Given the description of an element on the screen output the (x, y) to click on. 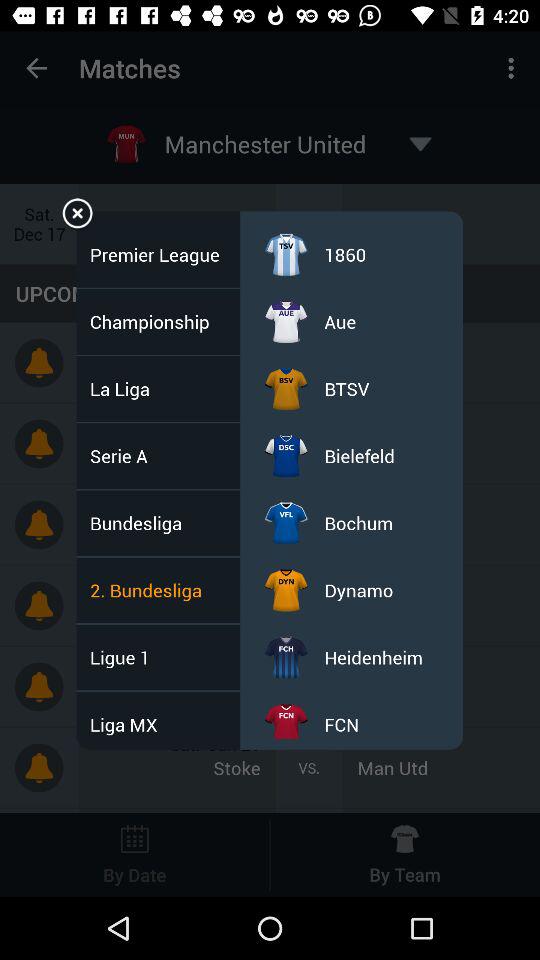
turn off icon above the dynamo icon (358, 522)
